Given the description of an element on the screen output the (x, y) to click on. 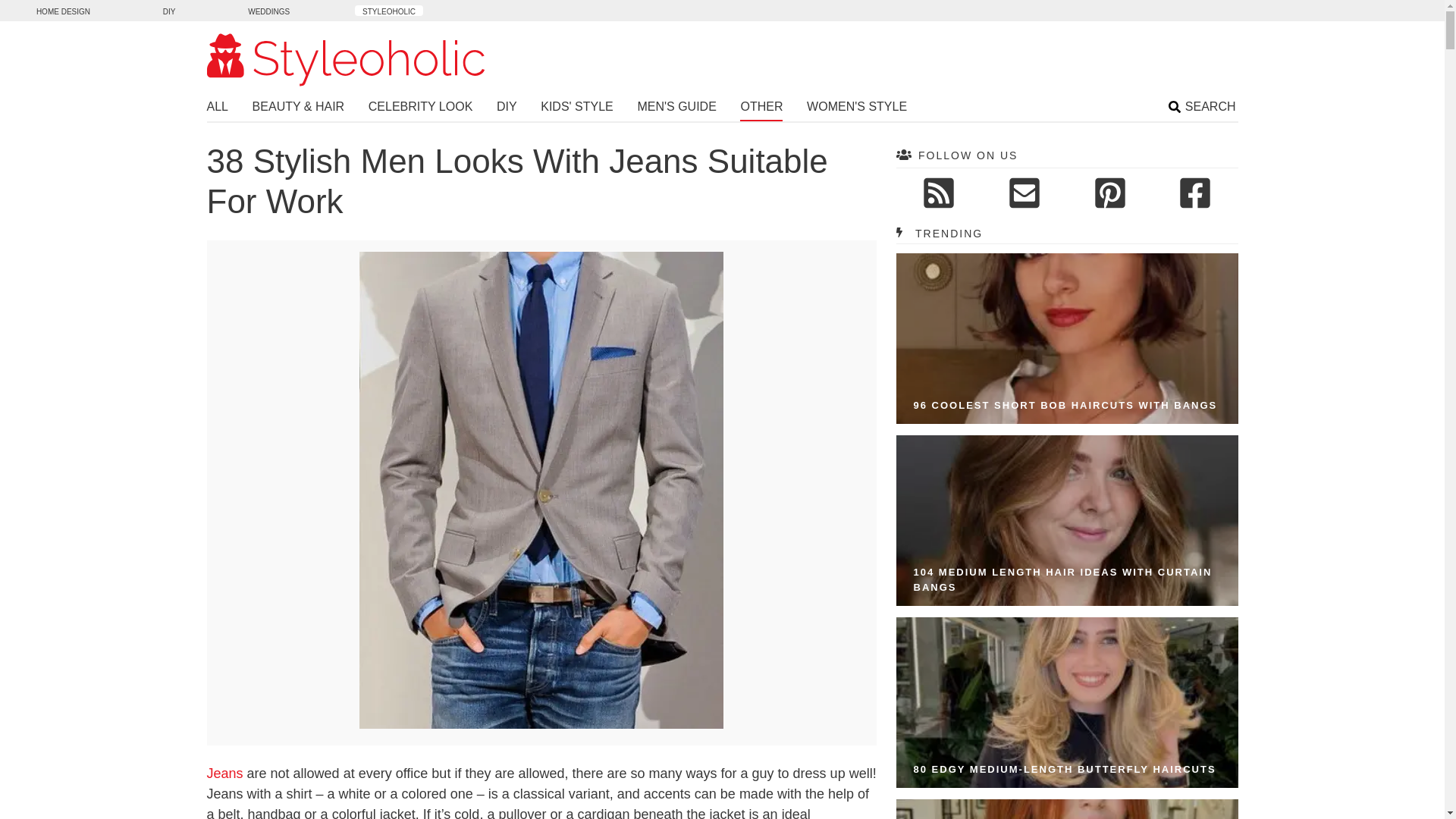
ALL (216, 108)
KIDS' STYLE (576, 108)
HOME DESIGN (63, 9)
DIY Projects and Crafts (169, 9)
Jeans (224, 773)
OTHER (761, 109)
DIY (506, 108)
DIY (169, 9)
CELEBRITY LOOK (420, 108)
DigsDigs (63, 9)
WEDDINGS (268, 9)
WOMEN'S STYLE (856, 108)
MEN'S GUIDE (676, 108)
Stylish Men Looks With Jeans Suitable For Work (541, 724)
